Given the description of an element on the screen output the (x, y) to click on. 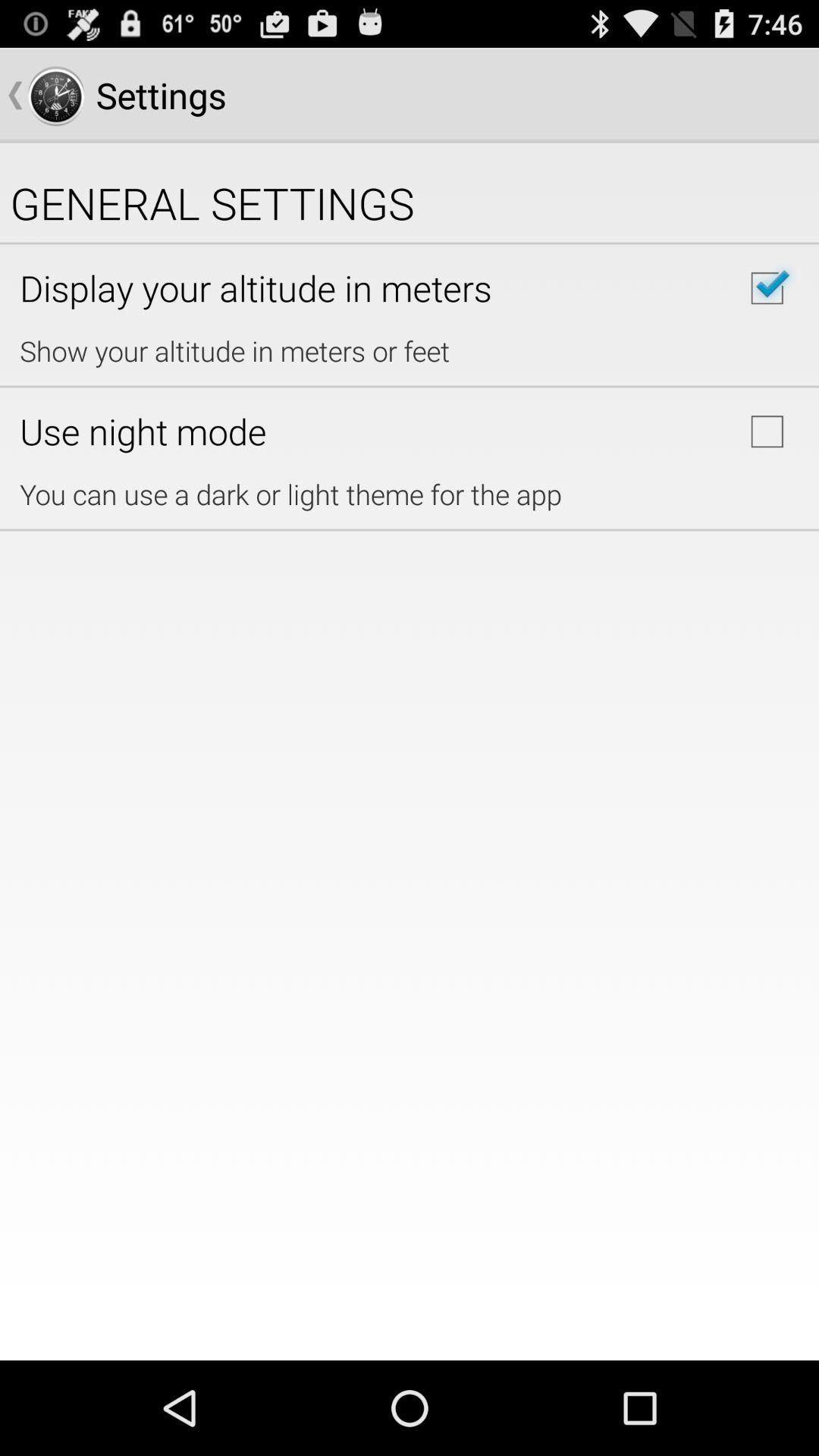
checkbox checked (767, 288)
